Given the description of an element on the screen output the (x, y) to click on. 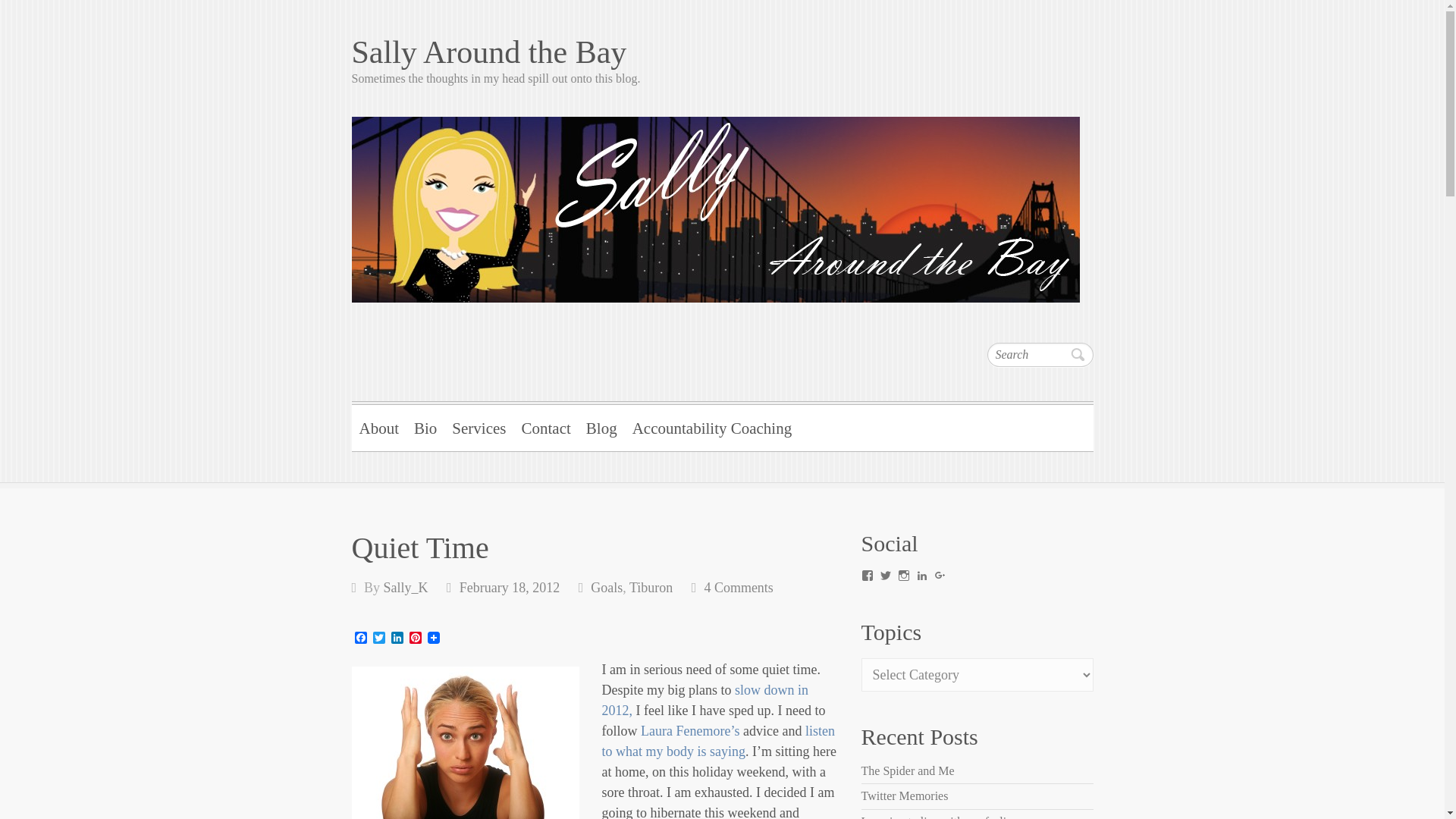
LinkedIn (397, 638)
Blog (601, 426)
Sally Around the Bay (722, 52)
1:25 pm (509, 587)
Facebook (360, 638)
Services (478, 426)
Pinterest (415, 638)
slow down in 2012, (705, 700)
Sally Around the Bay (722, 52)
Accountability Coaching (711, 426)
February 18, 2012 (509, 587)
Tiburon (650, 587)
Goals (607, 587)
Facebook (360, 638)
LinkedIn (397, 638)
